Given the description of an element on the screen output the (x, y) to click on. 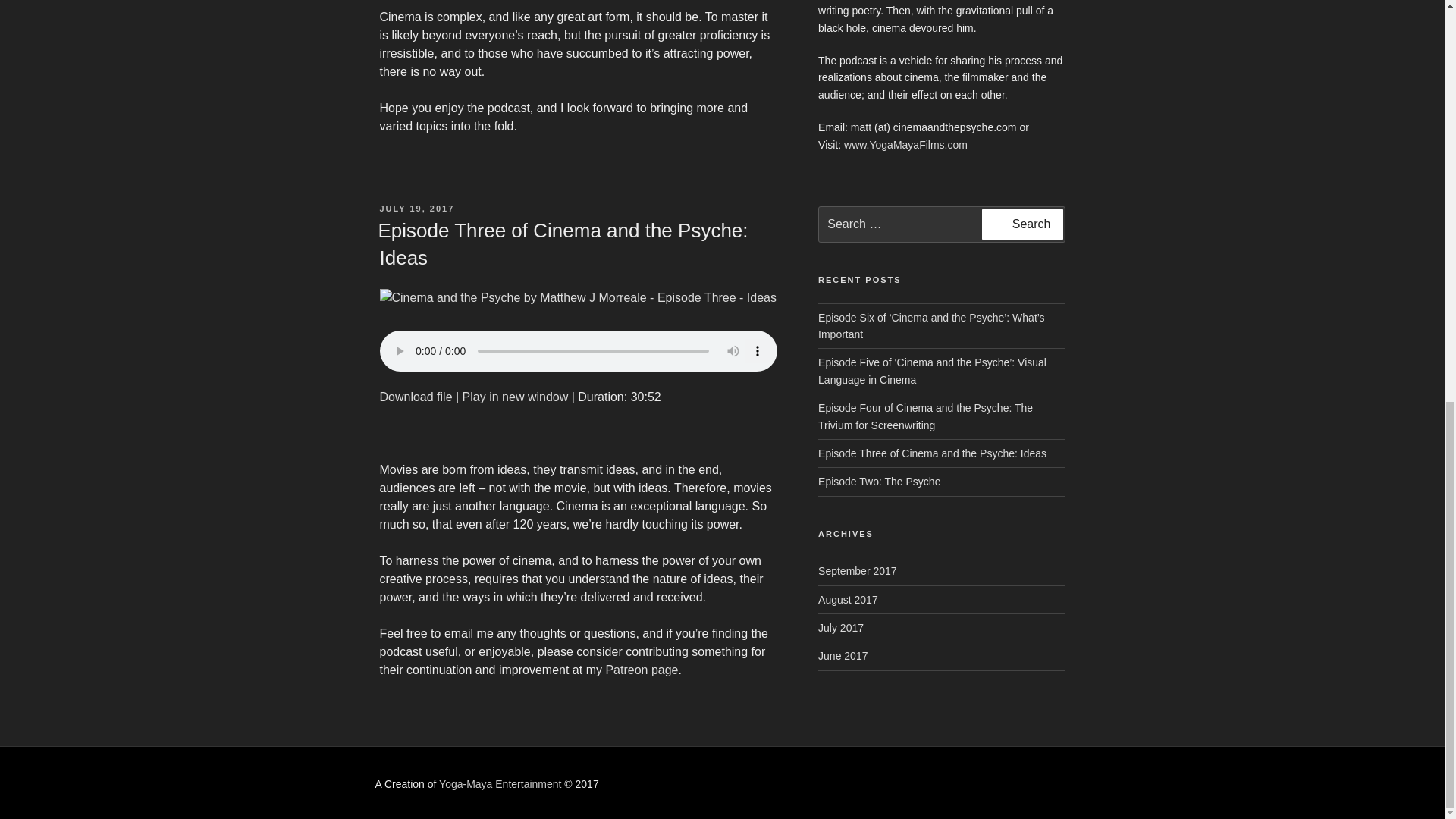
Episode Three of Cinema and the Psyche: Ideas  (414, 396)
Patreon page (641, 669)
August 2017 (847, 599)
Yoga-Maya Entertainment (499, 784)
www.YogaMayaFilms.com (906, 144)
JULY 19, 2017 (416, 207)
Episode Three of Cinema and the Psyche: Ideas (562, 244)
Episode Three of Cinema and the Psyche: Ideas (932, 453)
June 2017 (842, 655)
Episode Three of Cinema and the Psyche: Ideas  (516, 396)
Download file (414, 396)
July 2017 (840, 627)
Play in new window (516, 396)
September 2017 (857, 571)
